Given the description of an element on the screen output the (x, y) to click on. 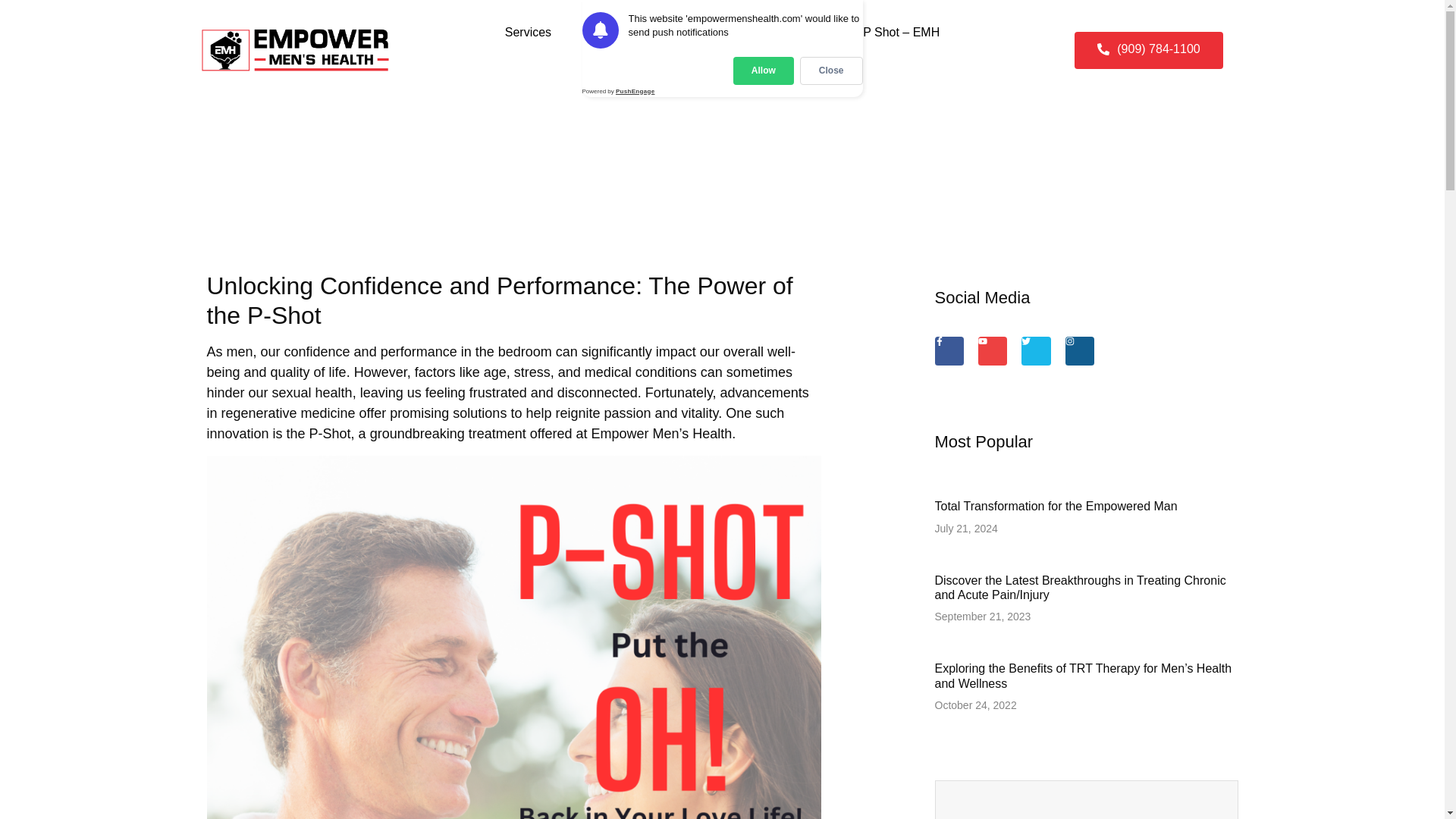
Total Transformation for the Empowered Man (1055, 505)
Booking (603, 32)
FAQ (667, 32)
Services (527, 32)
Contact Us (722, 67)
About TRT for Men (771, 32)
